Given the description of an element on the screen output the (x, y) to click on. 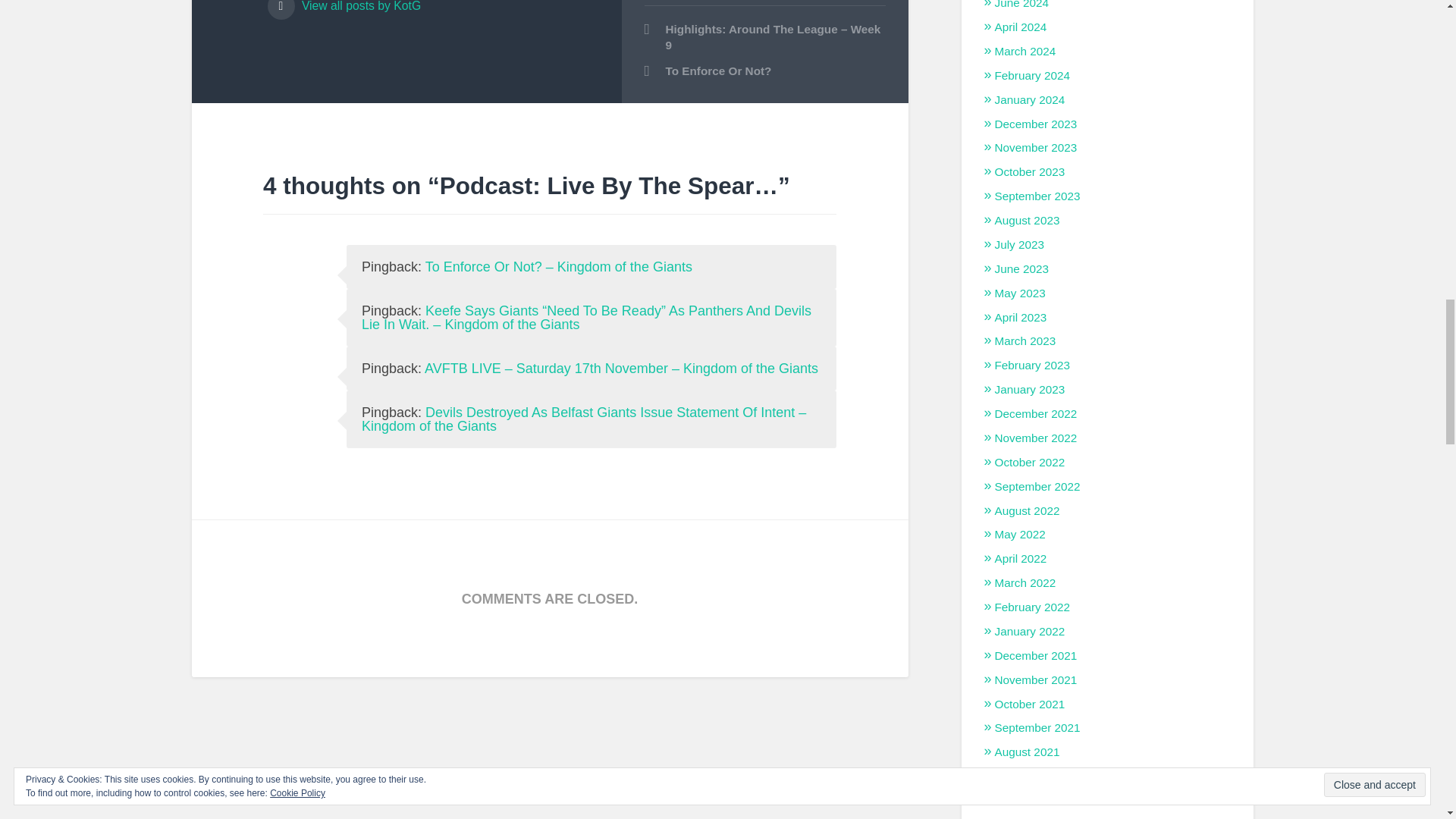
To Enforce Or Not? (765, 71)
View all posts by KotG (432, 9)
